Given the description of an element on the screen output the (x, y) to click on. 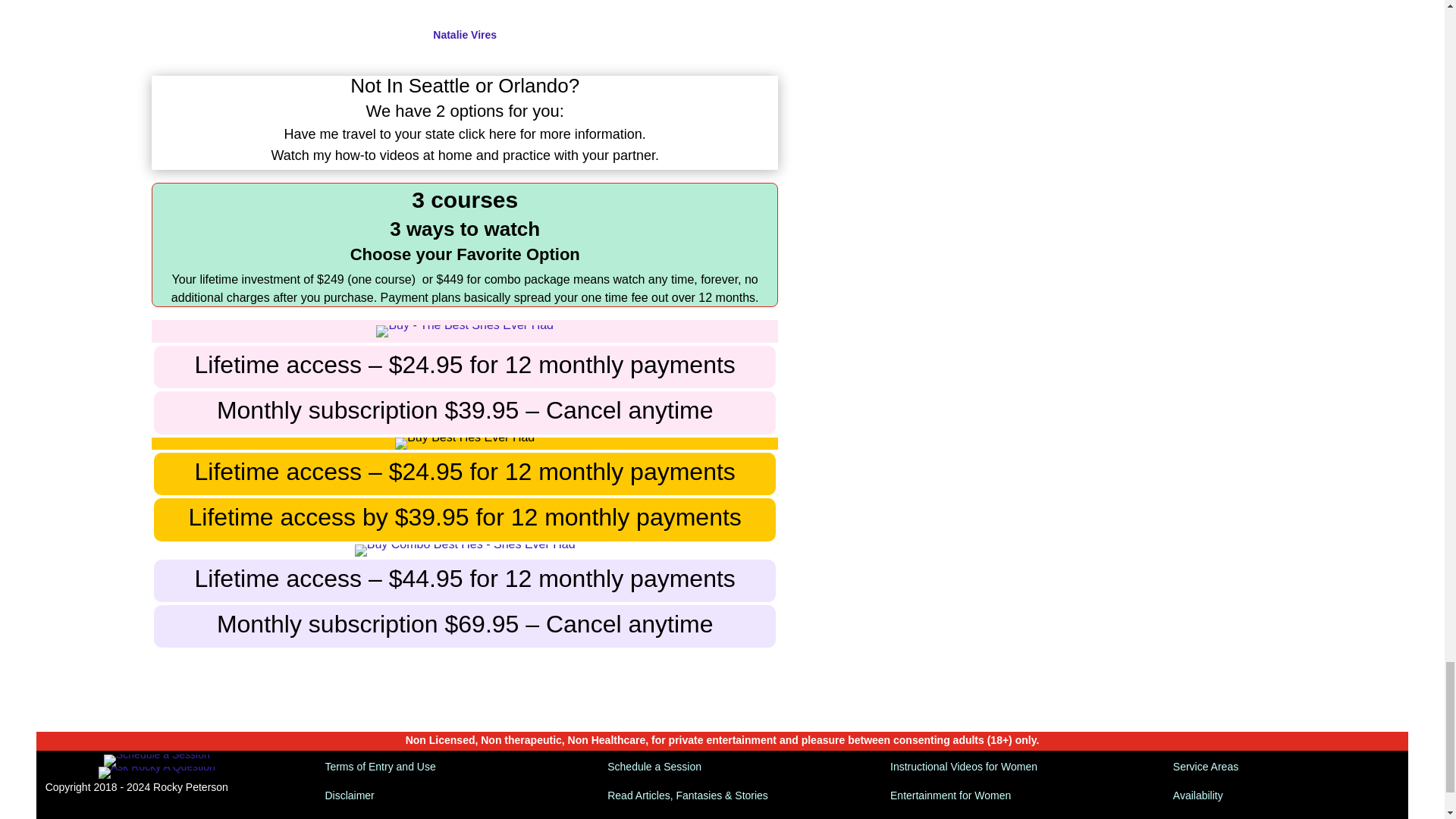
Buy - The Best Shes Ever Had (464, 331)
Posts by Natalie Vires (464, 34)
Natalie Vires (464, 34)
